Given the description of an element on the screen output the (x, y) to click on. 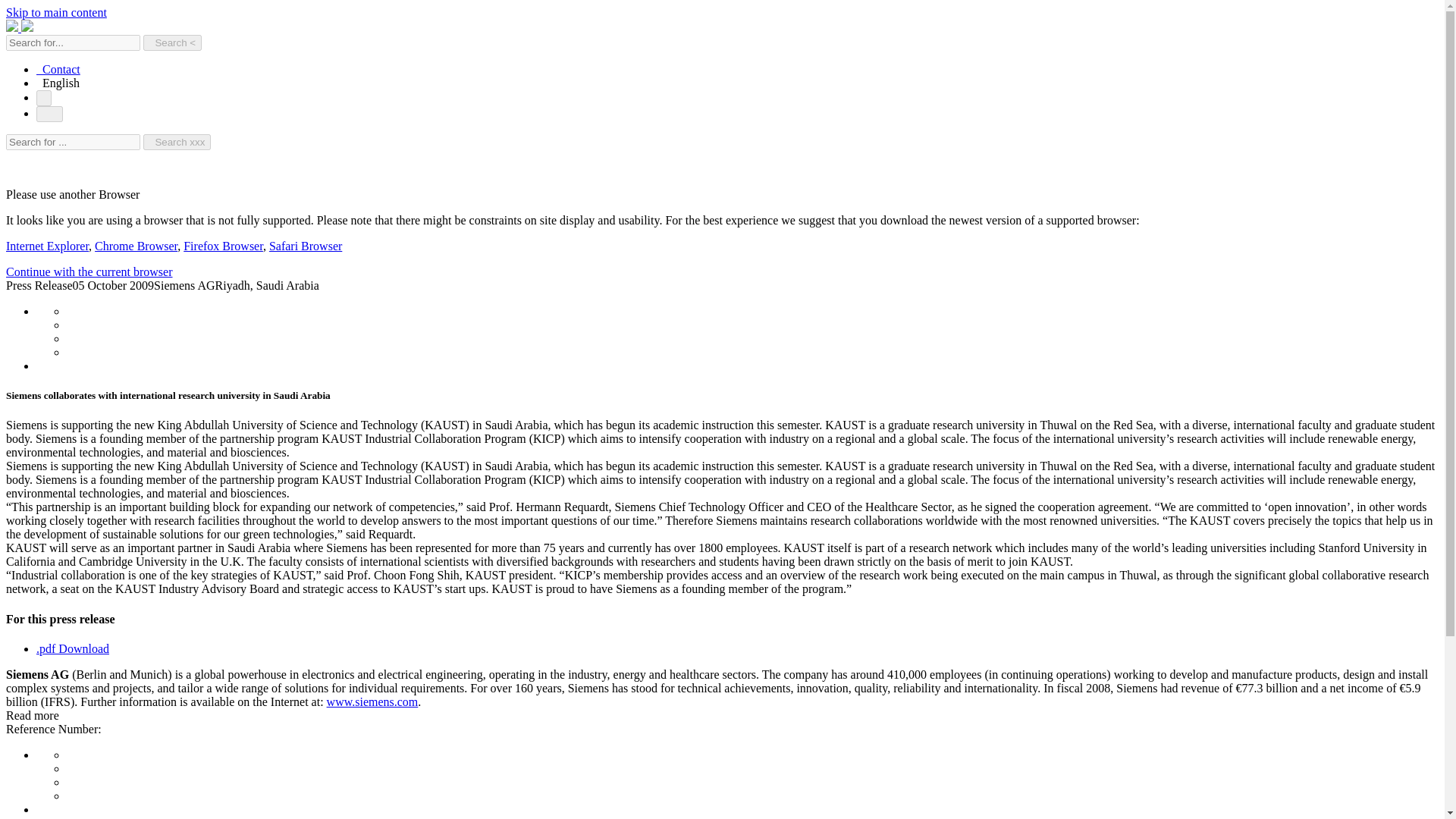
Firefox Browser (223, 245)
www.siemens.com (372, 701)
  Contact (58, 69)
Chrome Browser (135, 245)
  English (58, 82)
Internet Explorer (46, 245)
.pdf Download (72, 648)
  Search xxx (176, 141)
Skip to main content (55, 11)
Read more (32, 715)
Continue with the current browser (89, 271)
.pdf Download (72, 648)
Safari Browser (305, 245)
